Given the description of an element on the screen output the (x, y) to click on. 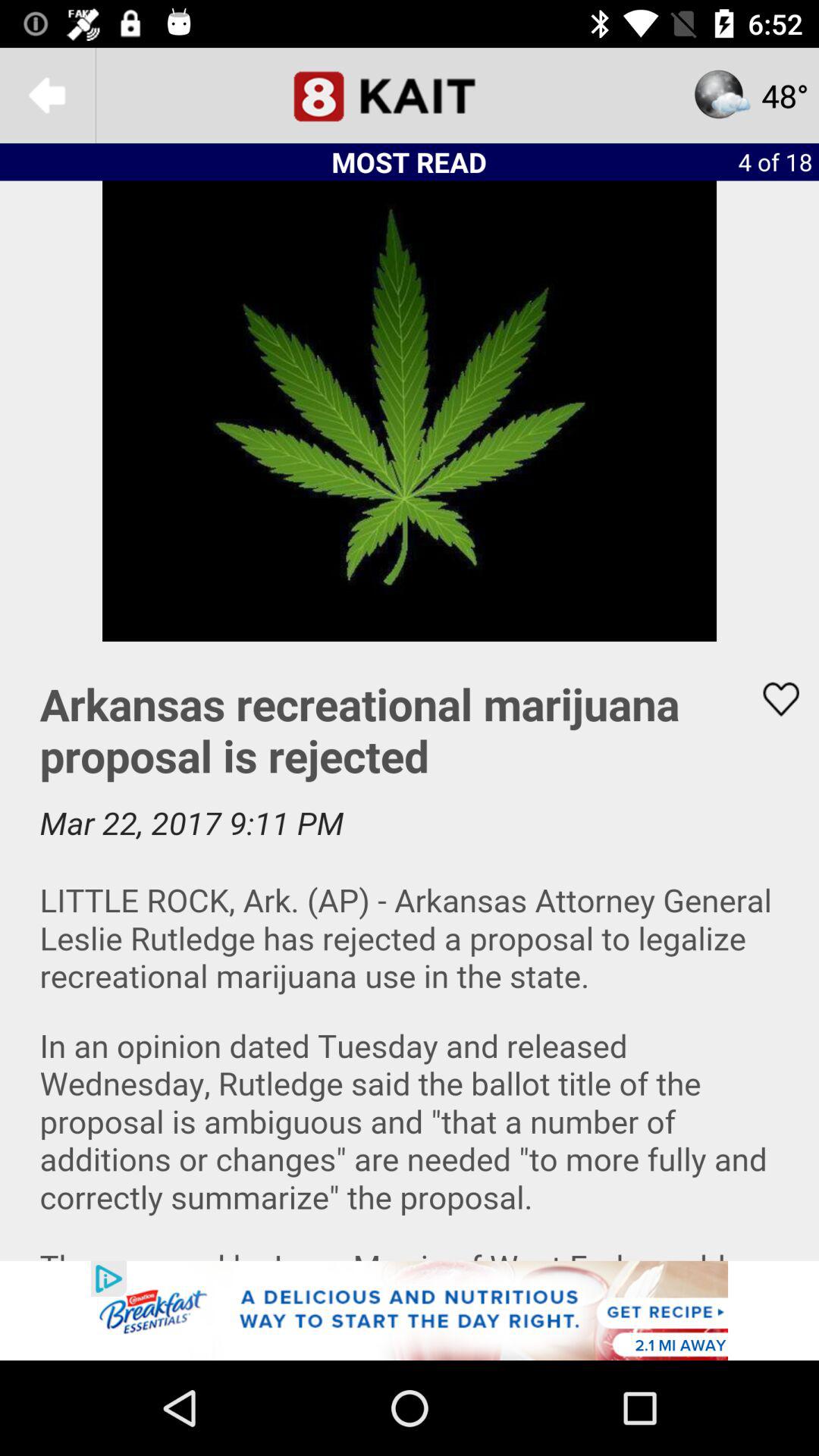
advertisements (409, 1310)
